Given the description of an element on the screen output the (x, y) to click on. 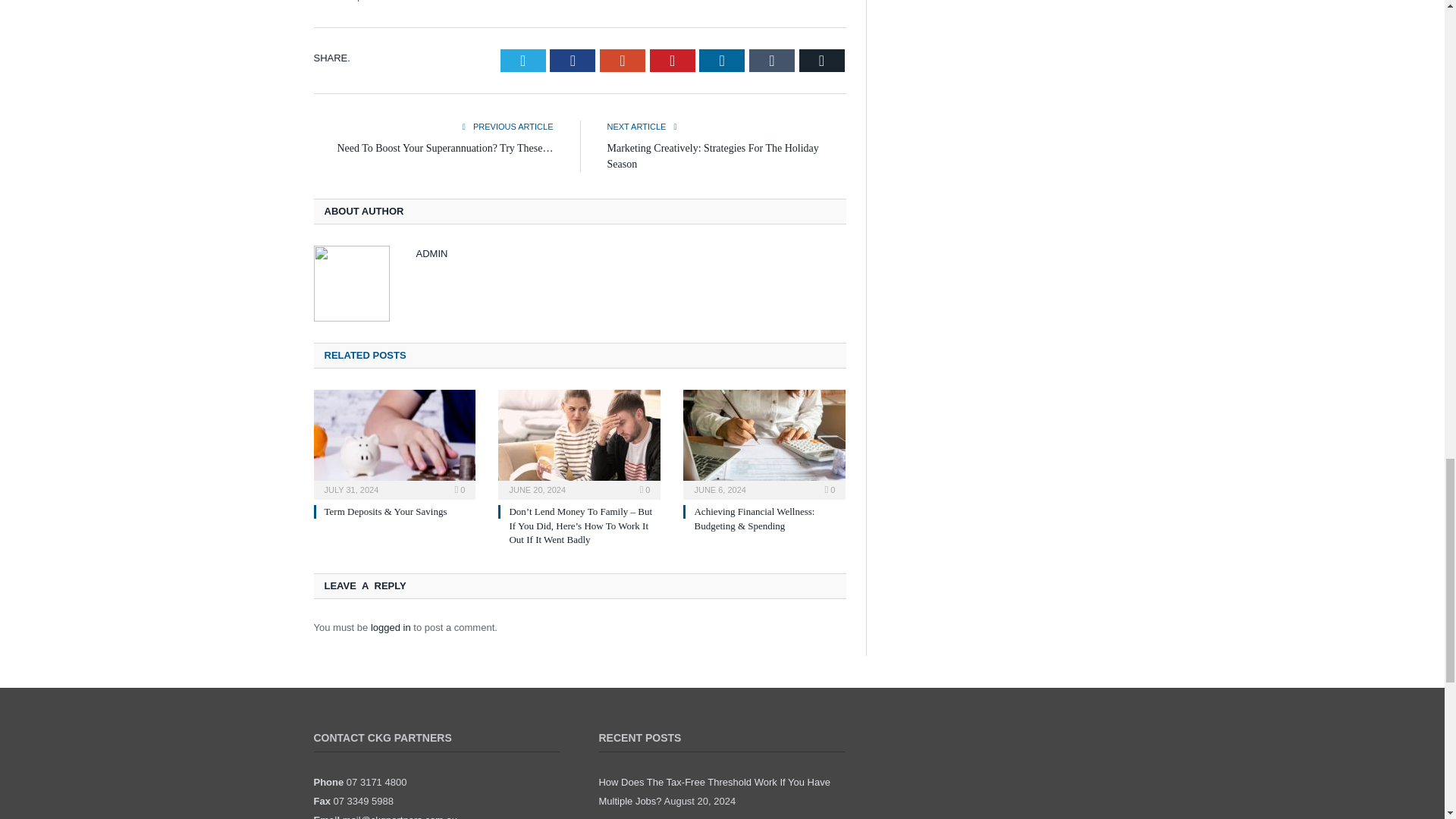
Facebook (572, 60)
Pinterest (672, 60)
Twitter (523, 60)
Marketing Creatively: Strategies For The Holiday Season (712, 155)
Email (821, 60)
LinkedIn (721, 60)
ADMIN (430, 253)
Tumblr (771, 60)
0 (459, 489)
